Given the description of an element on the screen output the (x, y) to click on. 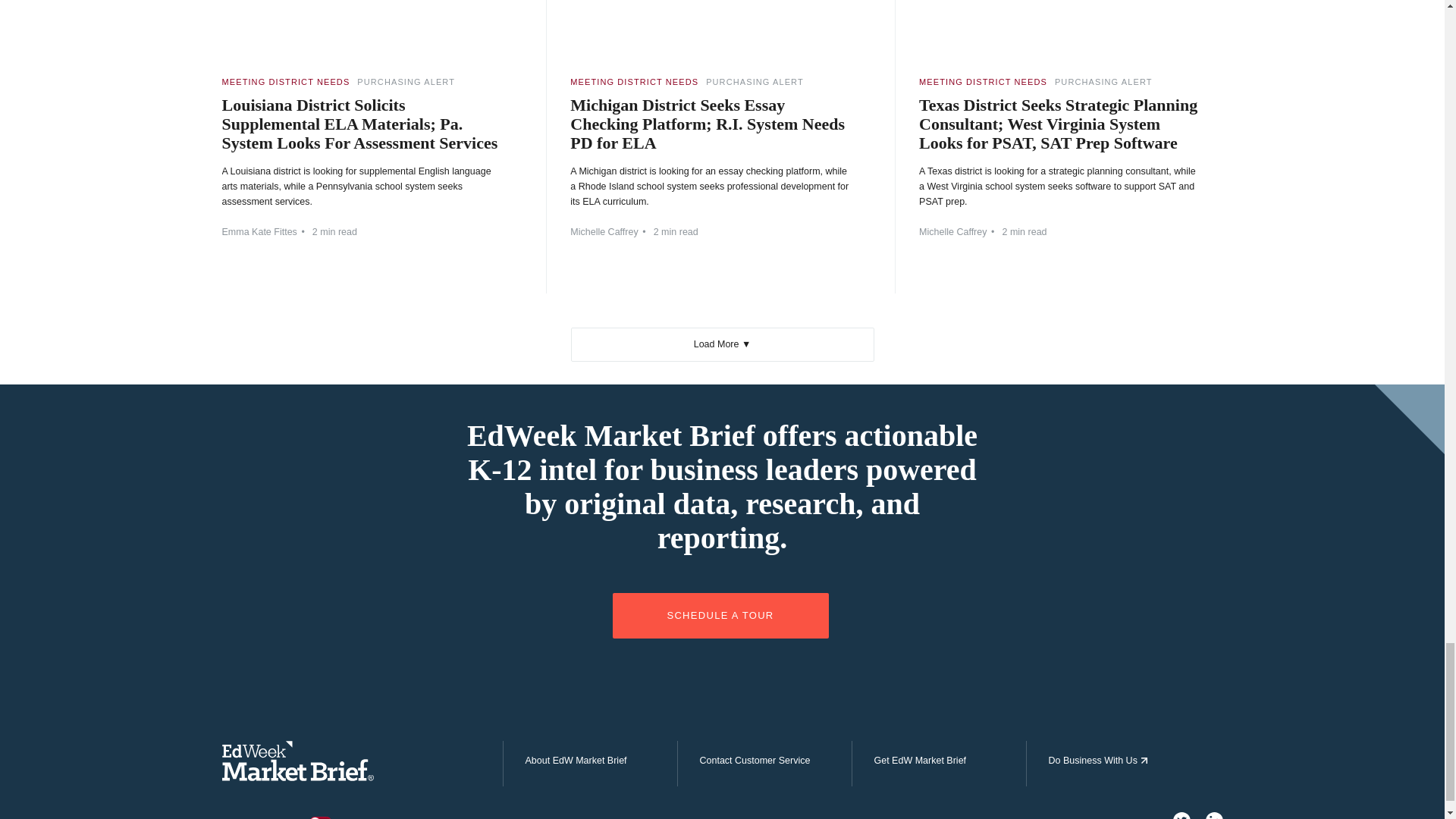
Homepage (296, 776)
